Given the description of an element on the screen output the (x, y) to click on. 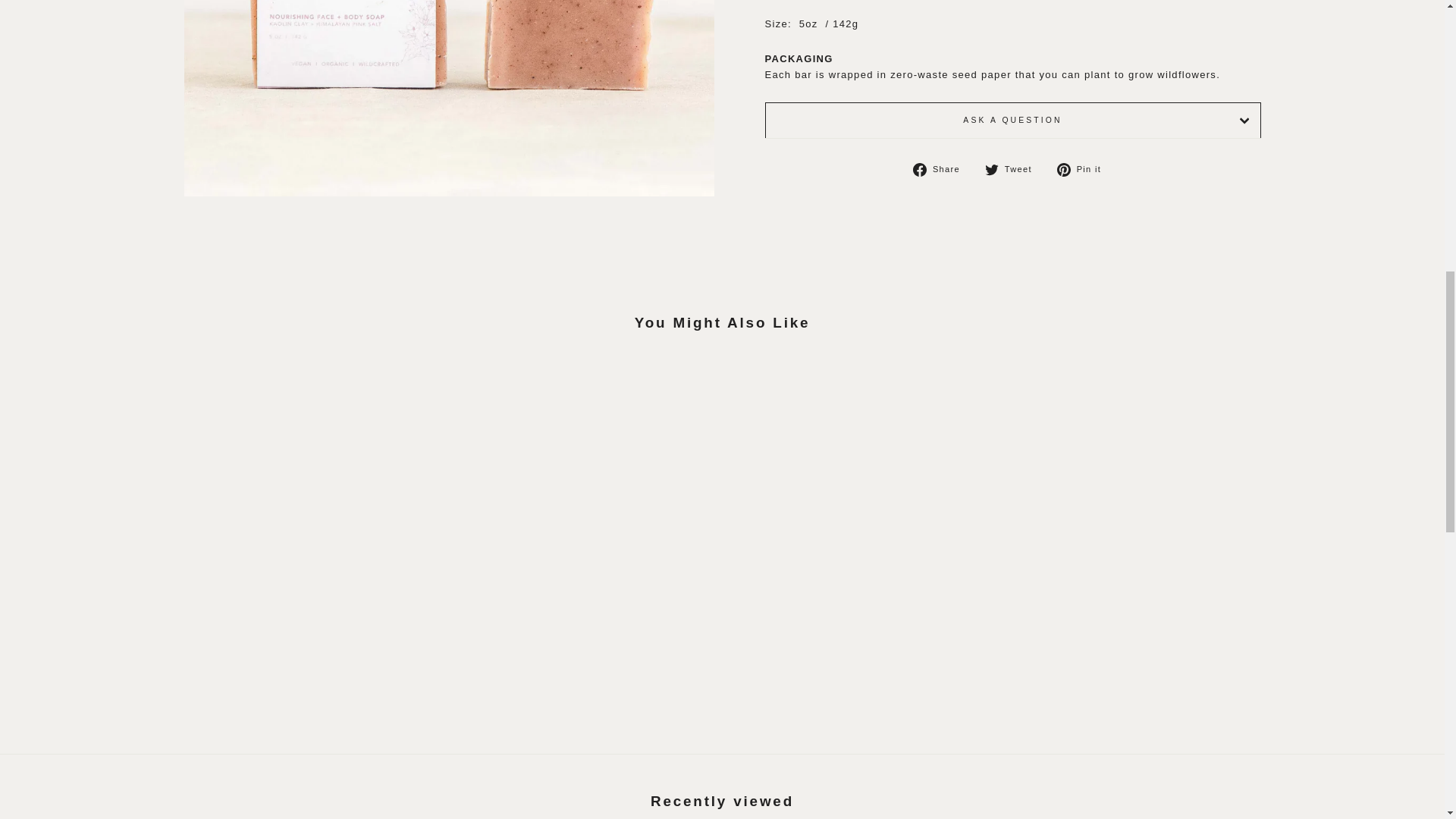
Tweet on Twitter (1014, 169)
Share on Facebook (941, 169)
Pin on Pinterest (1084, 169)
